Given the description of an element on the screen output the (x, y) to click on. 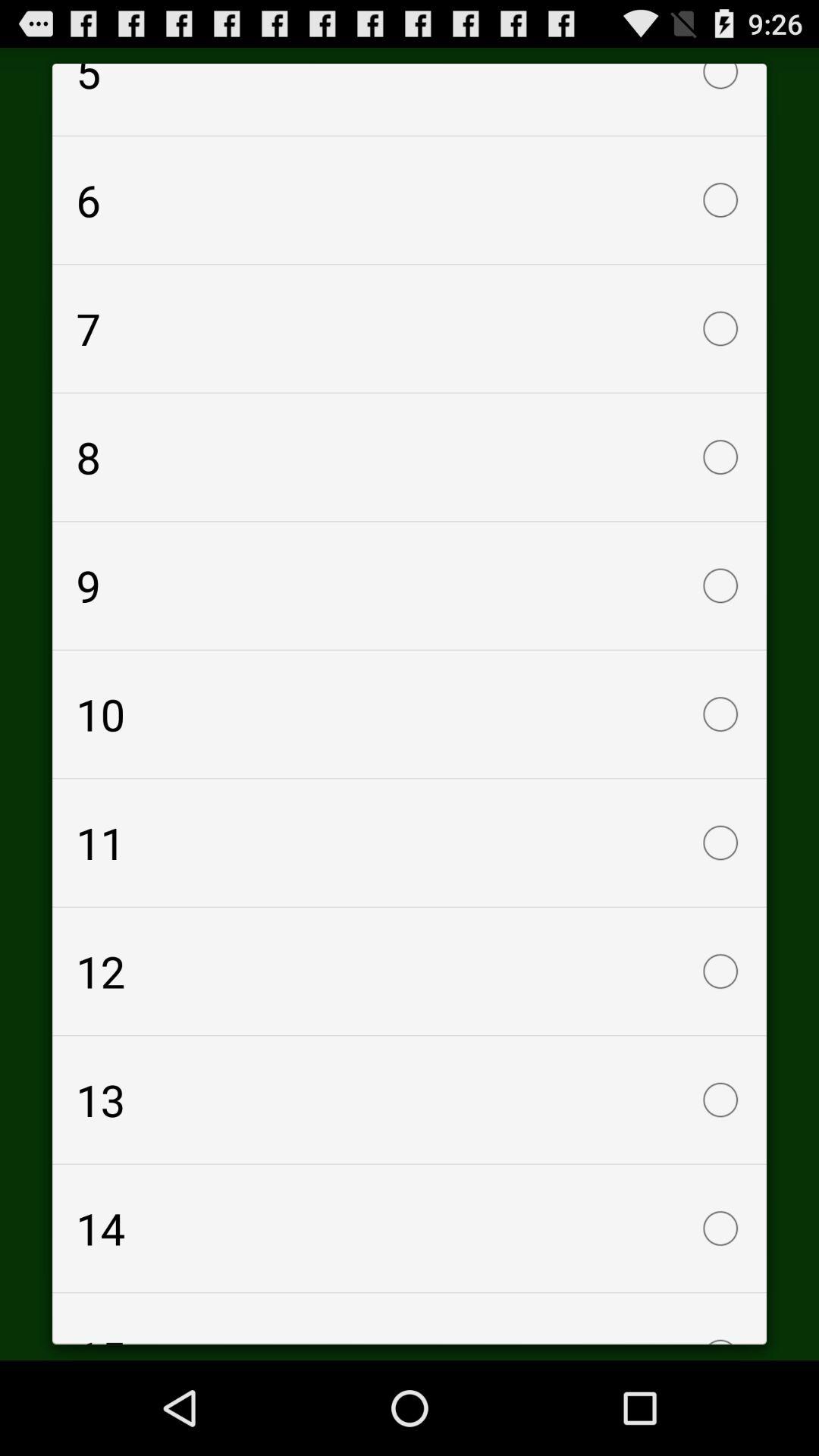
tap the 7 item (409, 328)
